Given the description of an element on the screen output the (x, y) to click on. 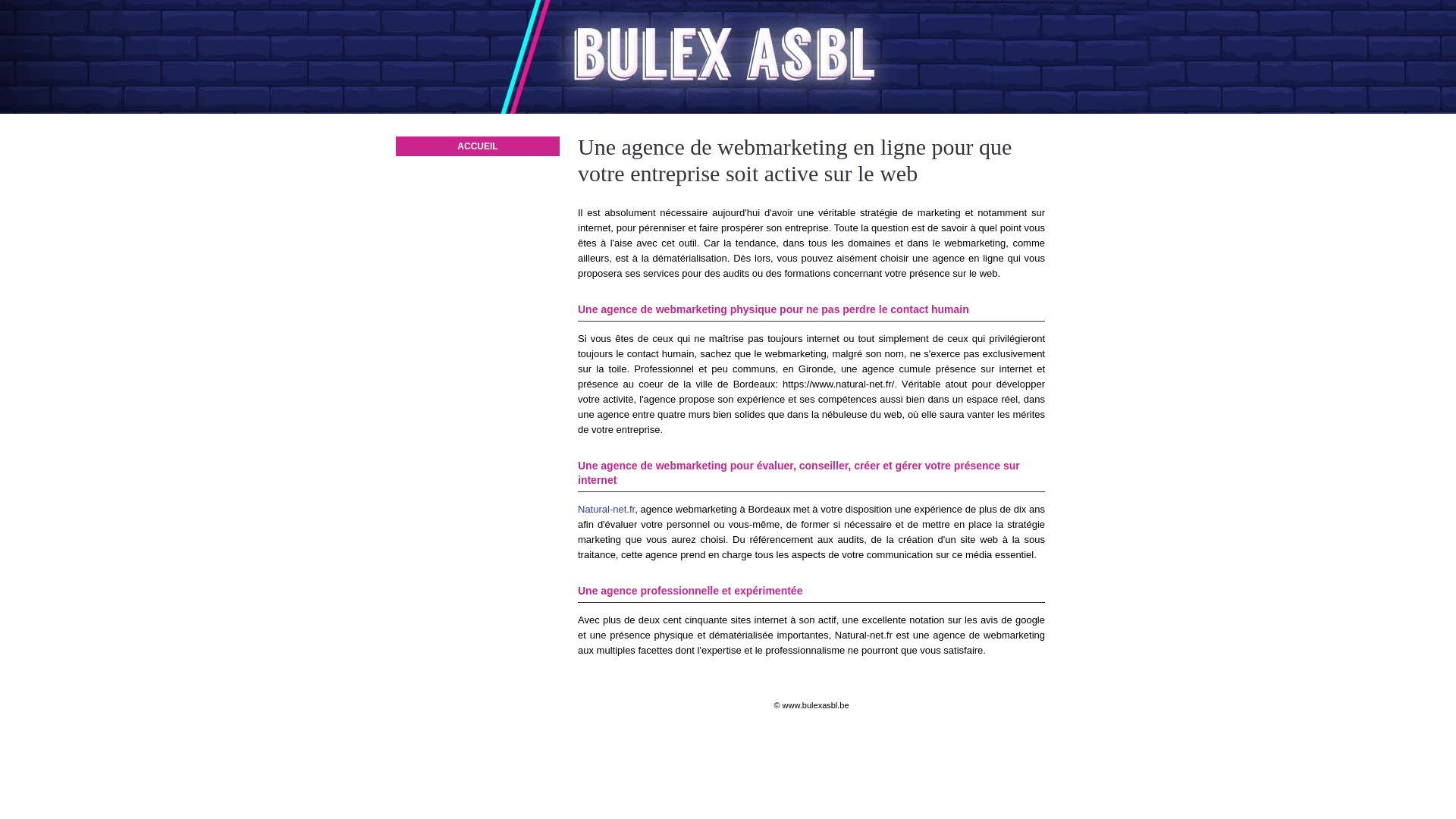
ACCUEIL Element type: text (477, 146)
Natural-net.fr Element type: text (605, 508)
